Given the description of an element on the screen output the (x, y) to click on. 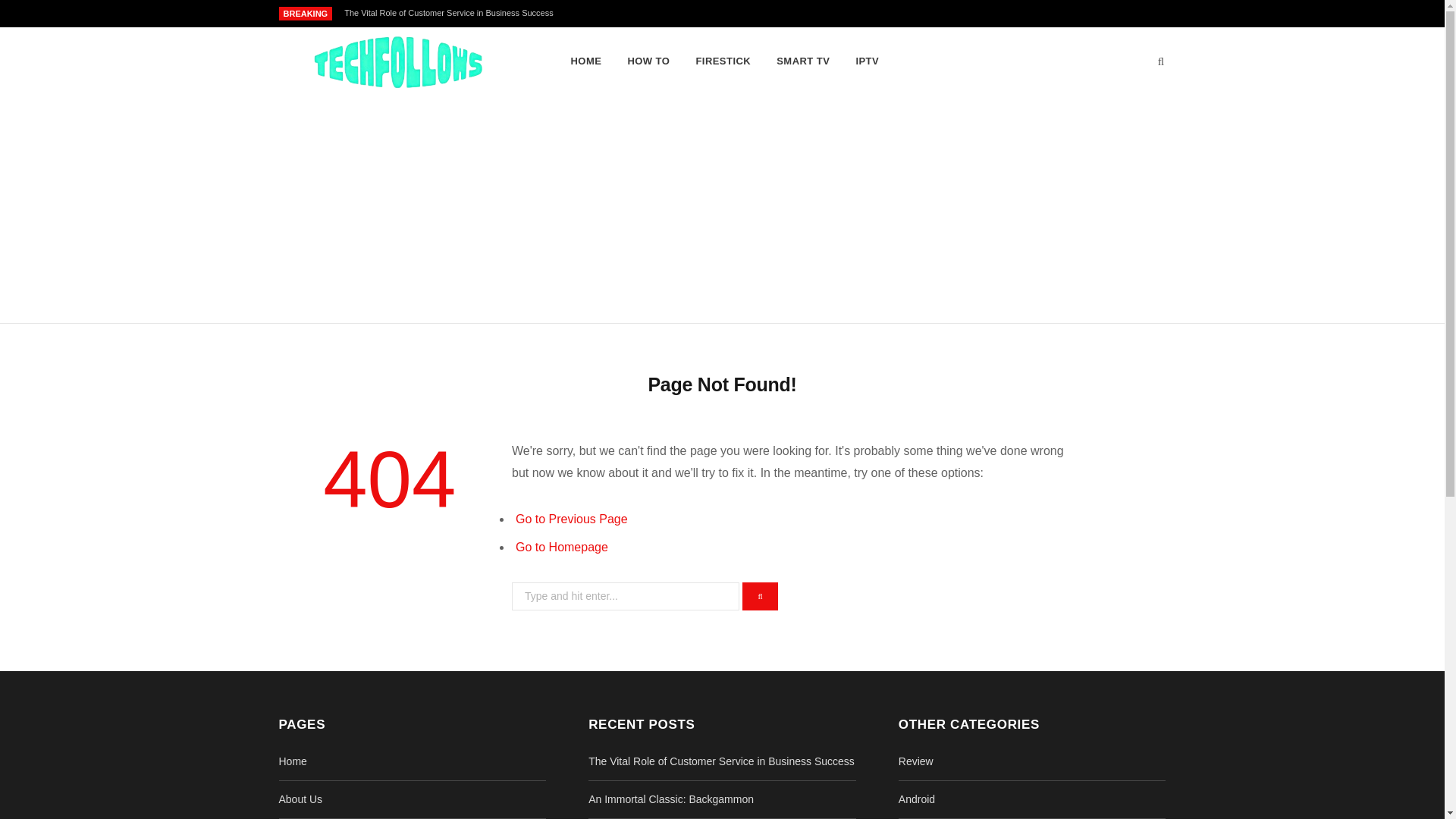
Home (293, 761)
Android (916, 799)
Go to Homepage (561, 546)
SMART TV (803, 61)
The Vital Role of Customer Service in Business Success (451, 12)
The Vital Role of Customer Service in Business Success (451, 12)
HOW TO (648, 61)
FIRESTICK (722, 61)
Go to Previous Page (571, 518)
The Vital Role of Customer Service in Business Success (721, 761)
